Given the description of an element on the screen output the (x, y) to click on. 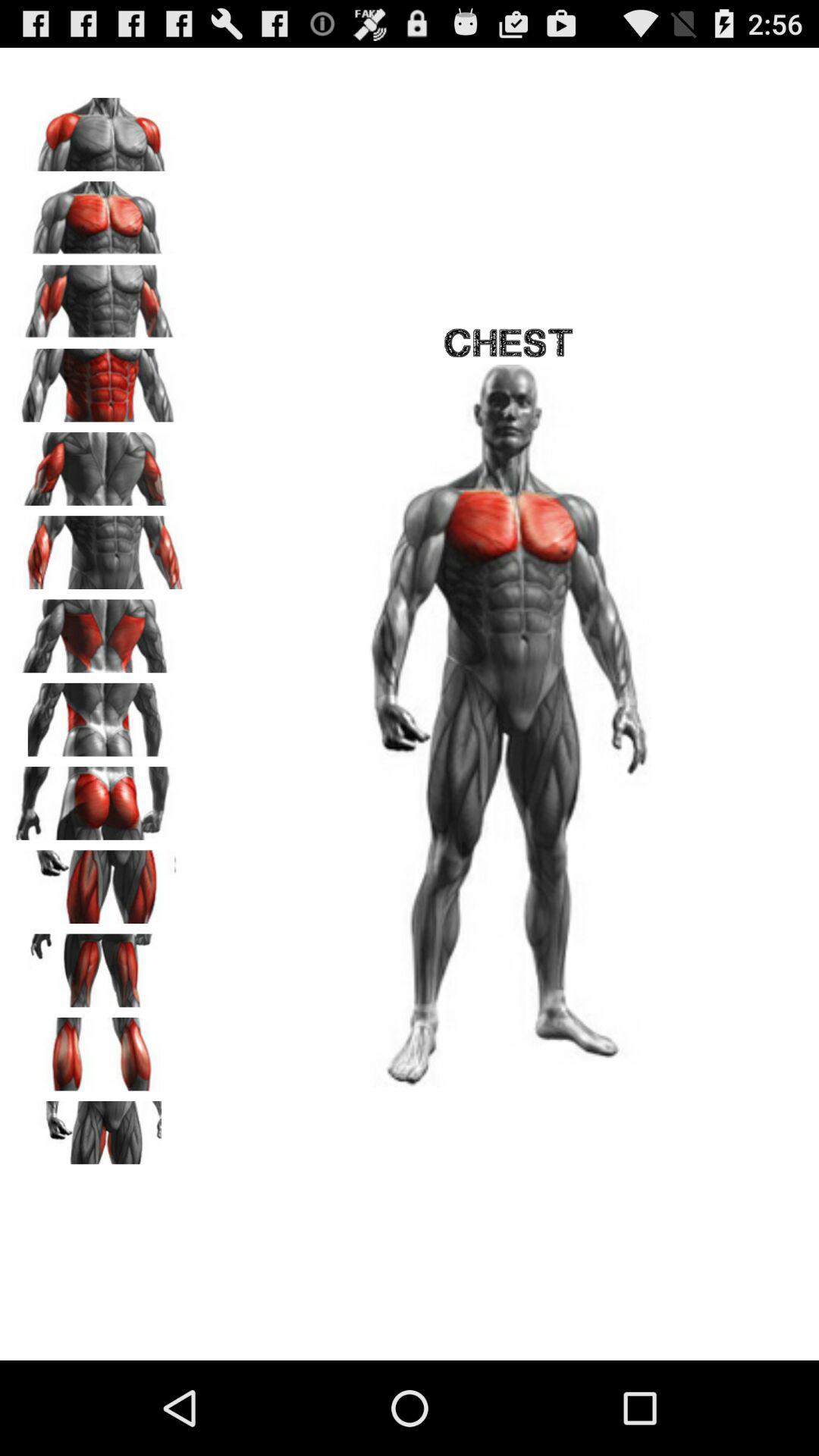
hamstring muscles option (99, 965)
